Given the description of an element on the screen output the (x, y) to click on. 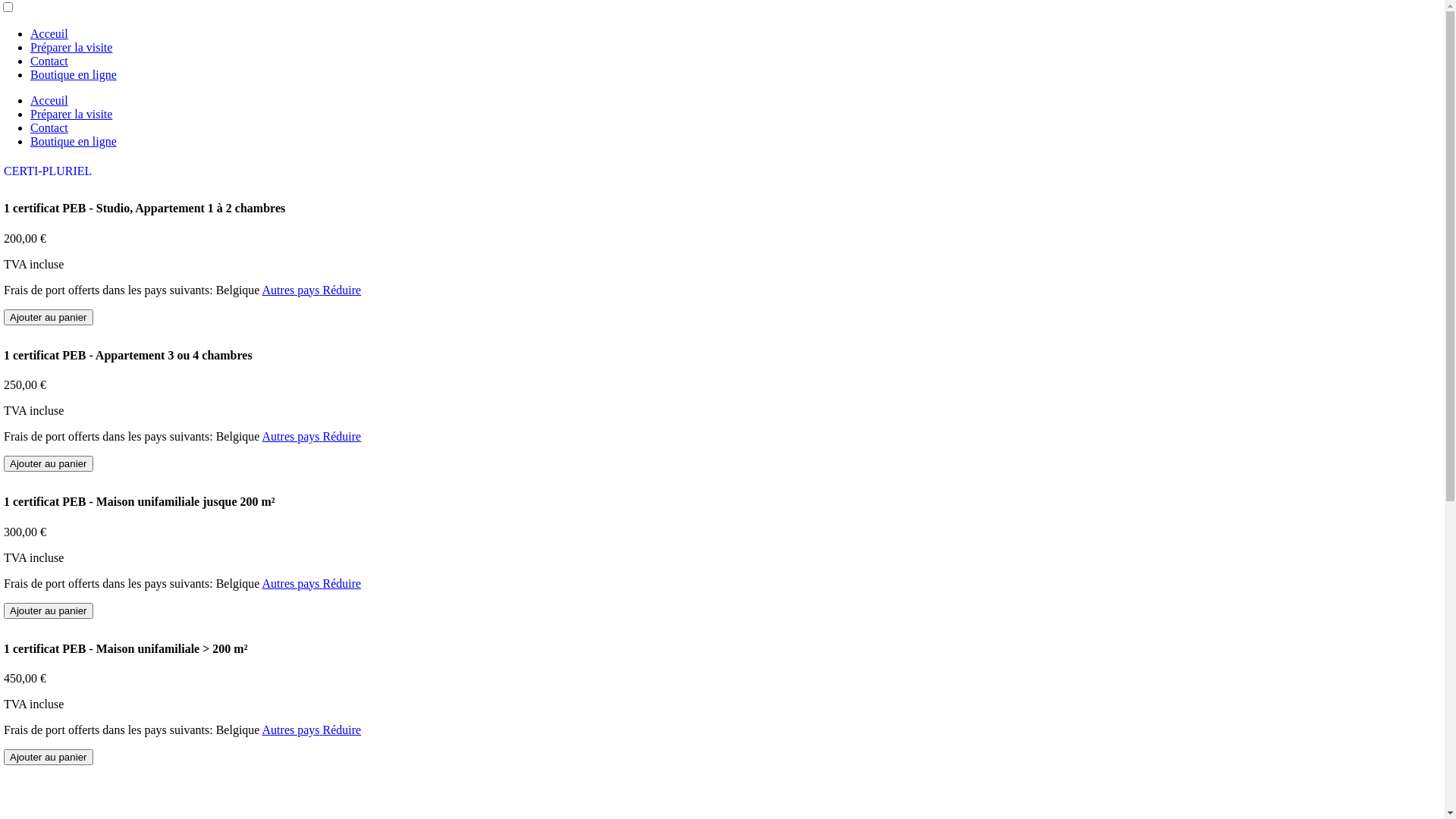
Acceuil Element type: text (49, 100)
Ajouter au panier Element type: text (48, 610)
Ajouter au panier Element type: text (48, 757)
Boutique en ligne Element type: text (73, 140)
Ajouter au panier Element type: text (48, 317)
CERTI-PLURIEL Element type: text (47, 170)
Ajouter au panier Element type: text (48, 463)
Contact Element type: text (49, 127)
Contact Element type: text (49, 60)
Acceuil Element type: text (49, 33)
Boutique en ligne Element type: text (73, 74)
